Given the description of an element on the screen output the (x, y) to click on. 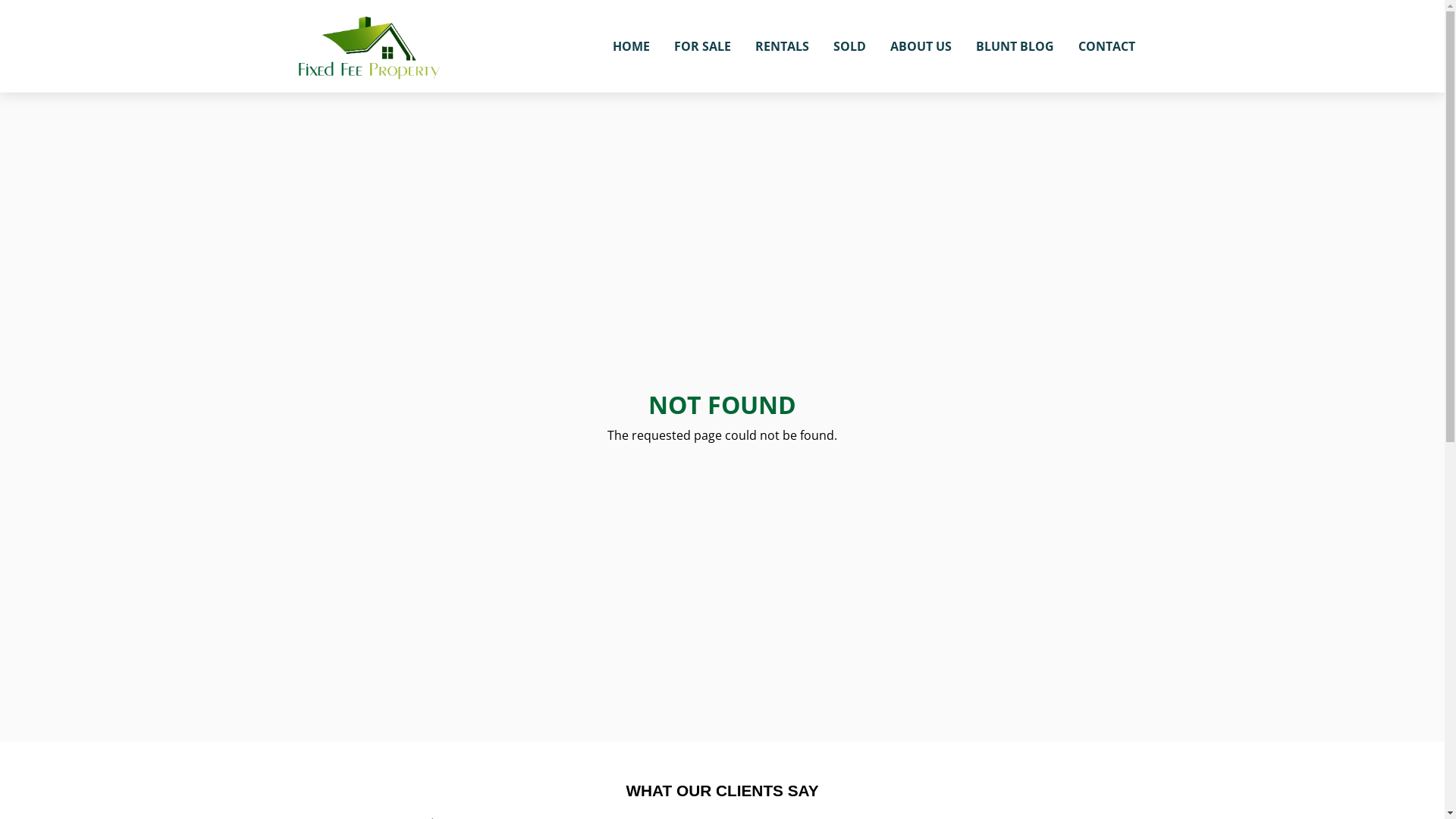
SOLD Element type: text (848, 46)
CONTACT Element type: text (1106, 46)
HOME Element type: text (631, 46)
FOR SALE Element type: text (701, 46)
ABOUT US Element type: text (920, 46)
RENTALS Element type: text (782, 46)
BLUNT BLOG Element type: text (1014, 46)
